Given the description of an element on the screen output the (x, y) to click on. 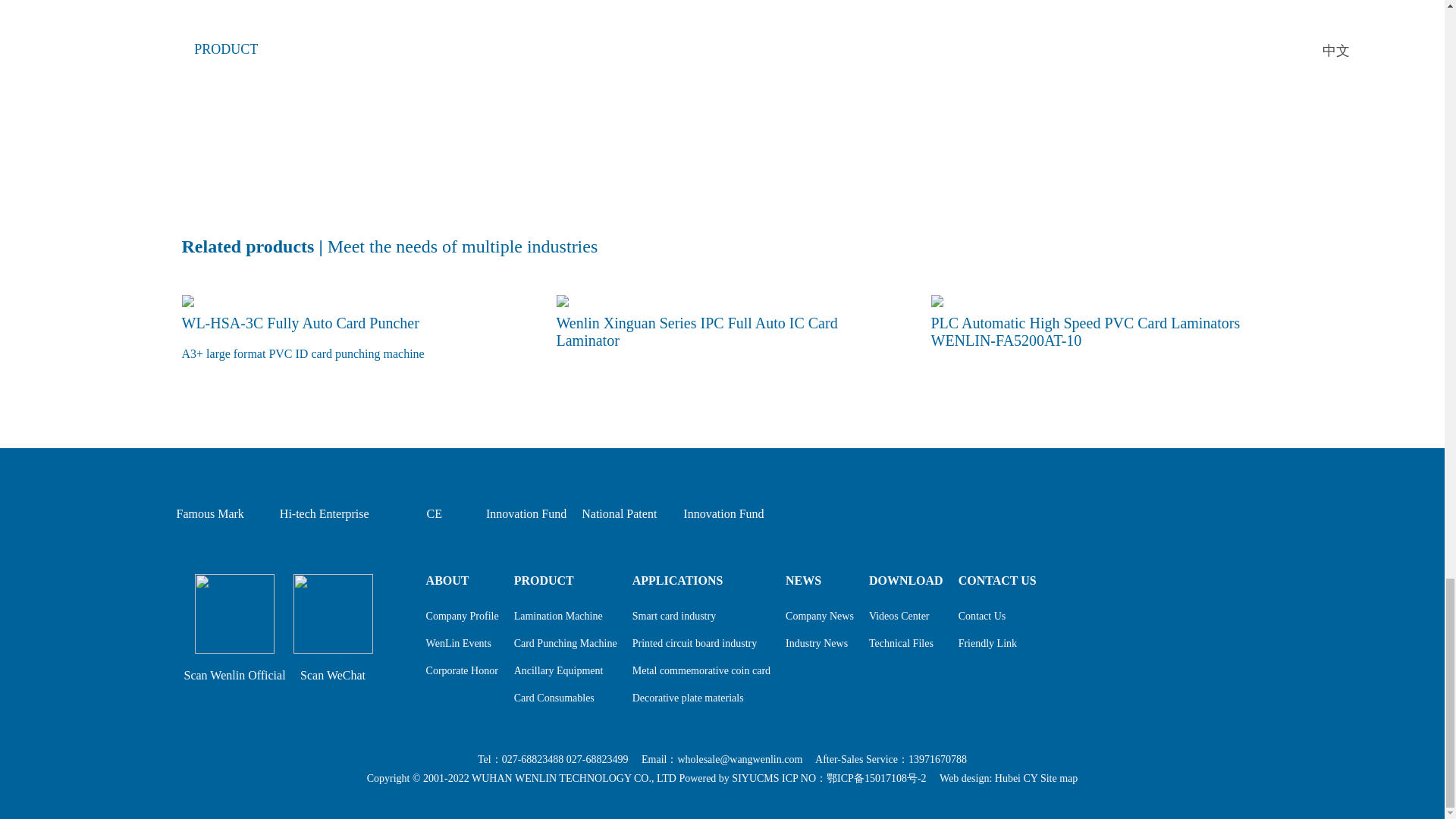
Smart card industry (673, 615)
WenLin Events (459, 643)
Lamination Machine (557, 615)
Ancillary Equipment (558, 670)
Corporate Honor (461, 670)
Card Consumables (553, 697)
Card Punching Machine (565, 643)
Company Profile (462, 615)
